Given the description of an element on the screen output the (x, y) to click on. 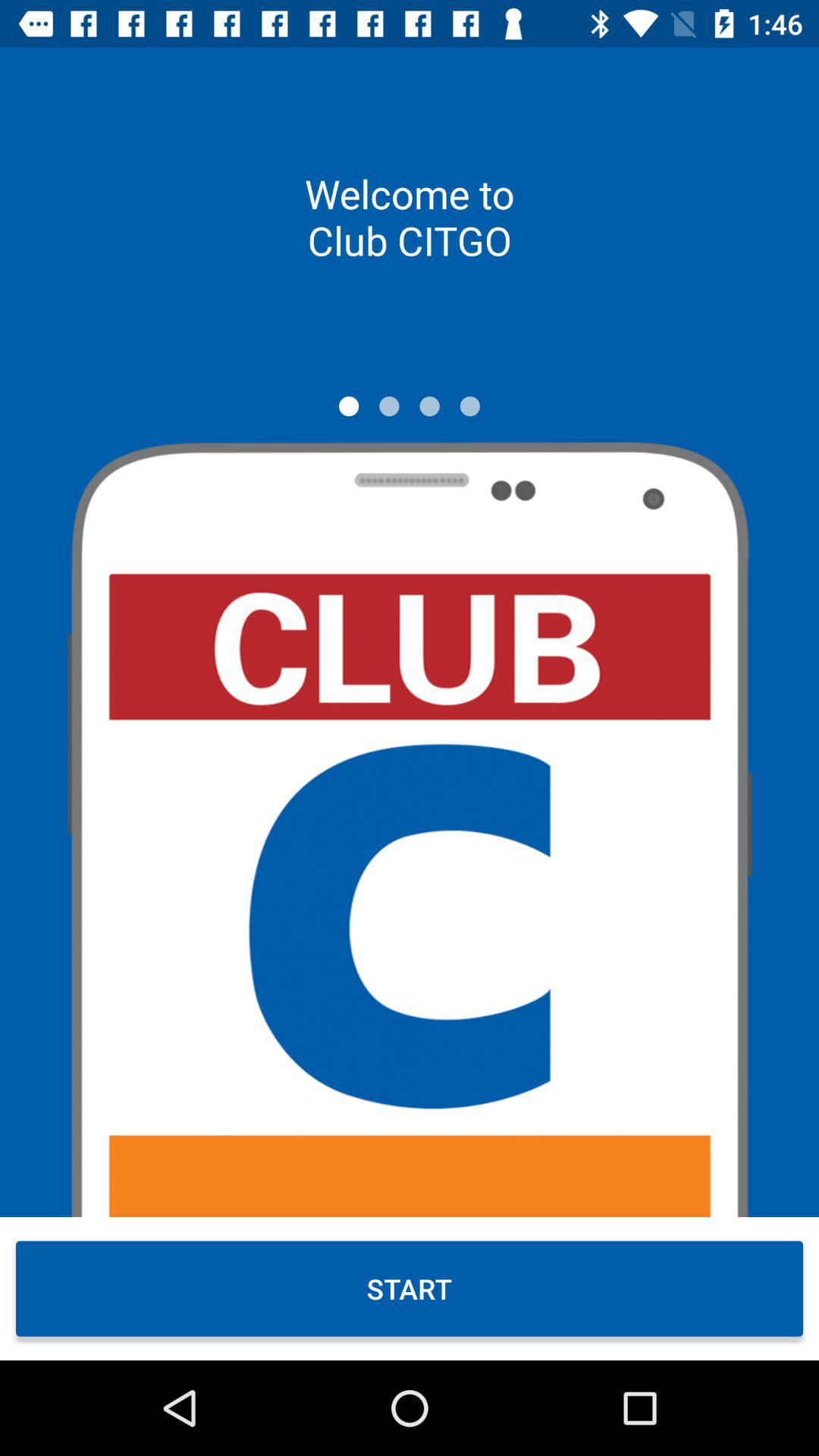
turn on icon below welcome to club (348, 406)
